Given the description of an element on the screen output the (x, y) to click on. 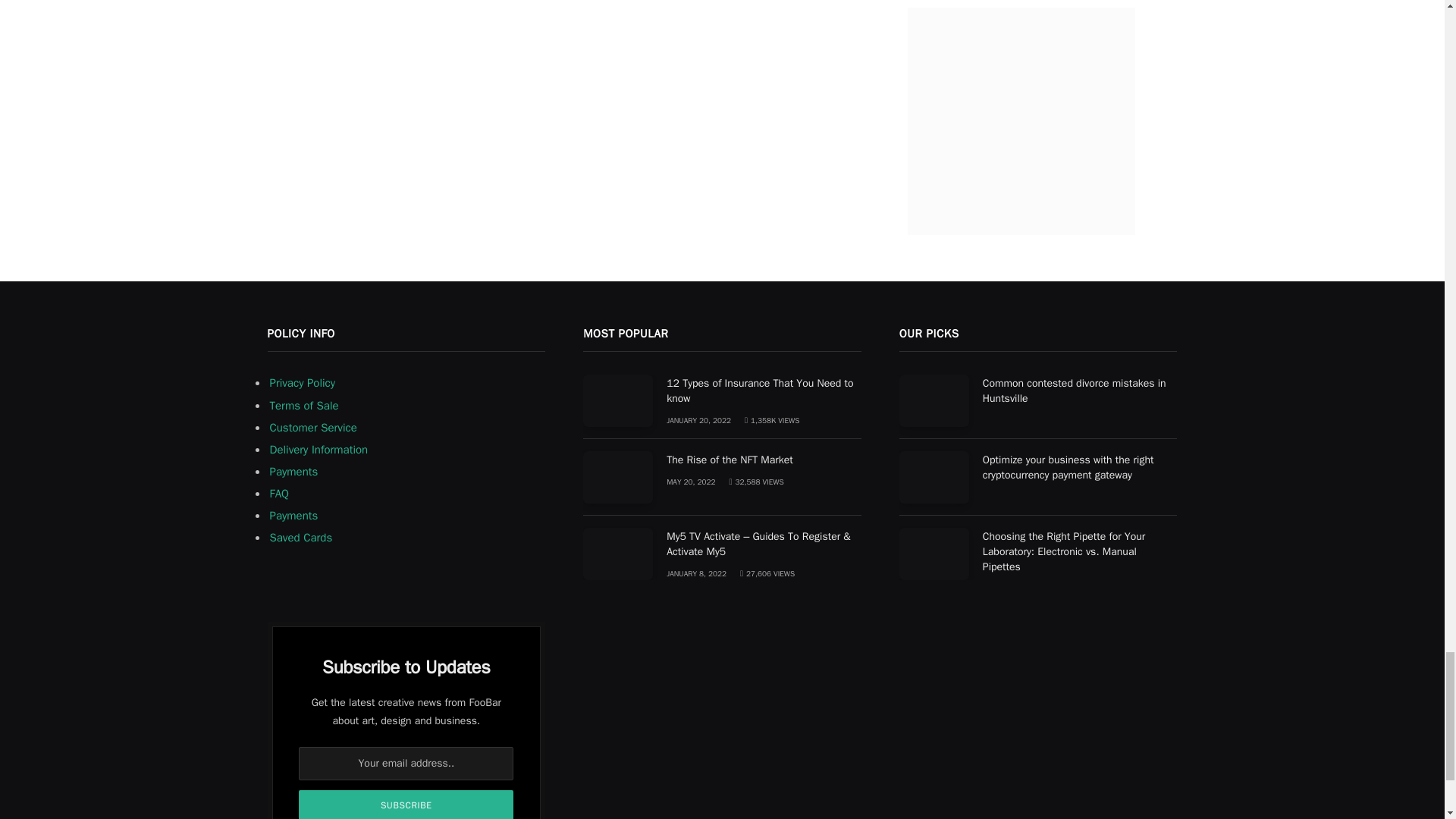
Subscribe (405, 804)
